Given the description of an element on the screen output the (x, y) to click on. 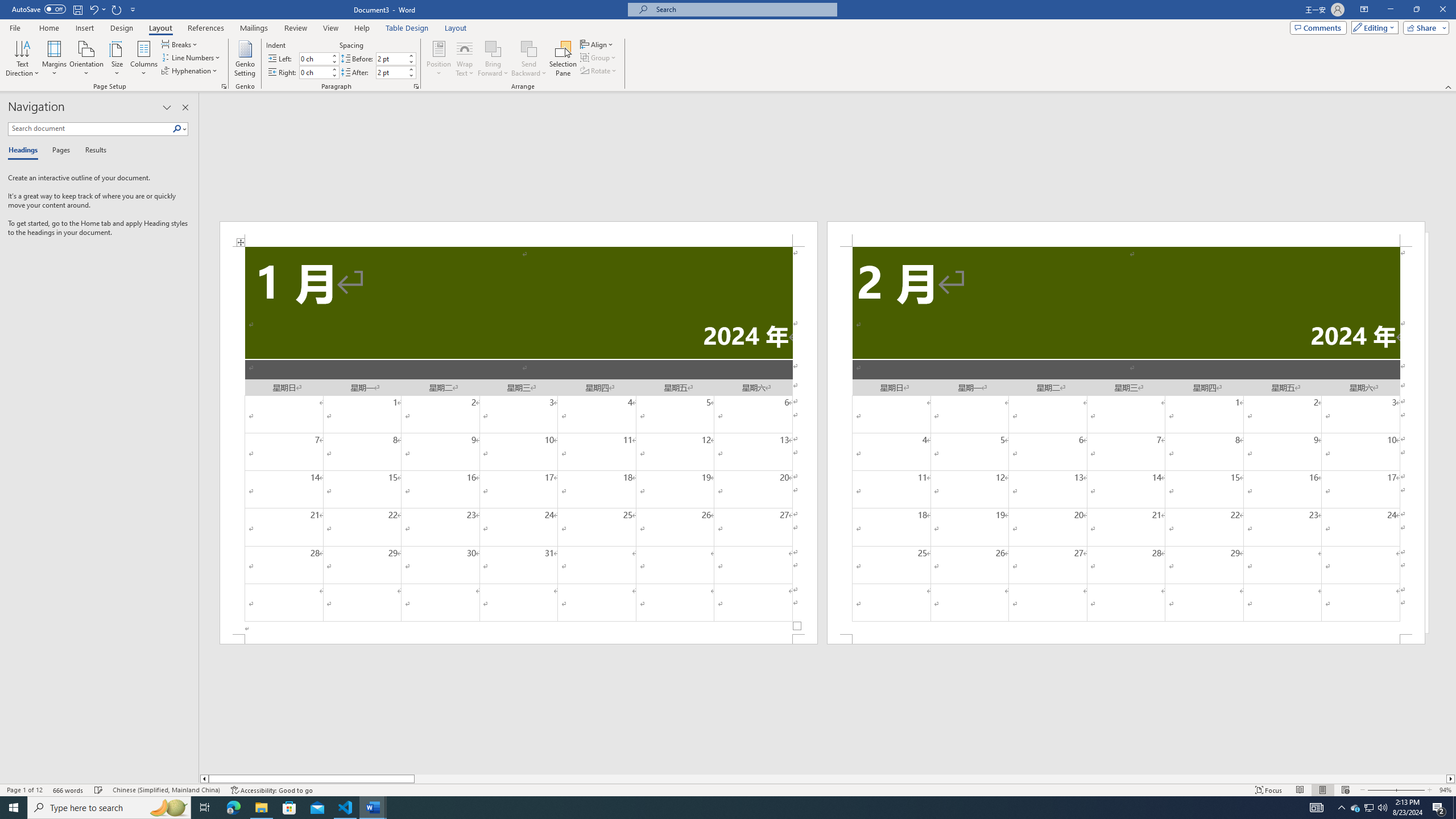
Page Number Page 1 of 12 (24, 790)
Spacing Before (391, 58)
Group (599, 56)
Align (597, 44)
Send Backward (528, 48)
Breaks (179, 44)
Undo Increase Indent (96, 9)
Undo Increase Indent (92, 9)
